Given the description of an element on the screen output the (x, y) to click on. 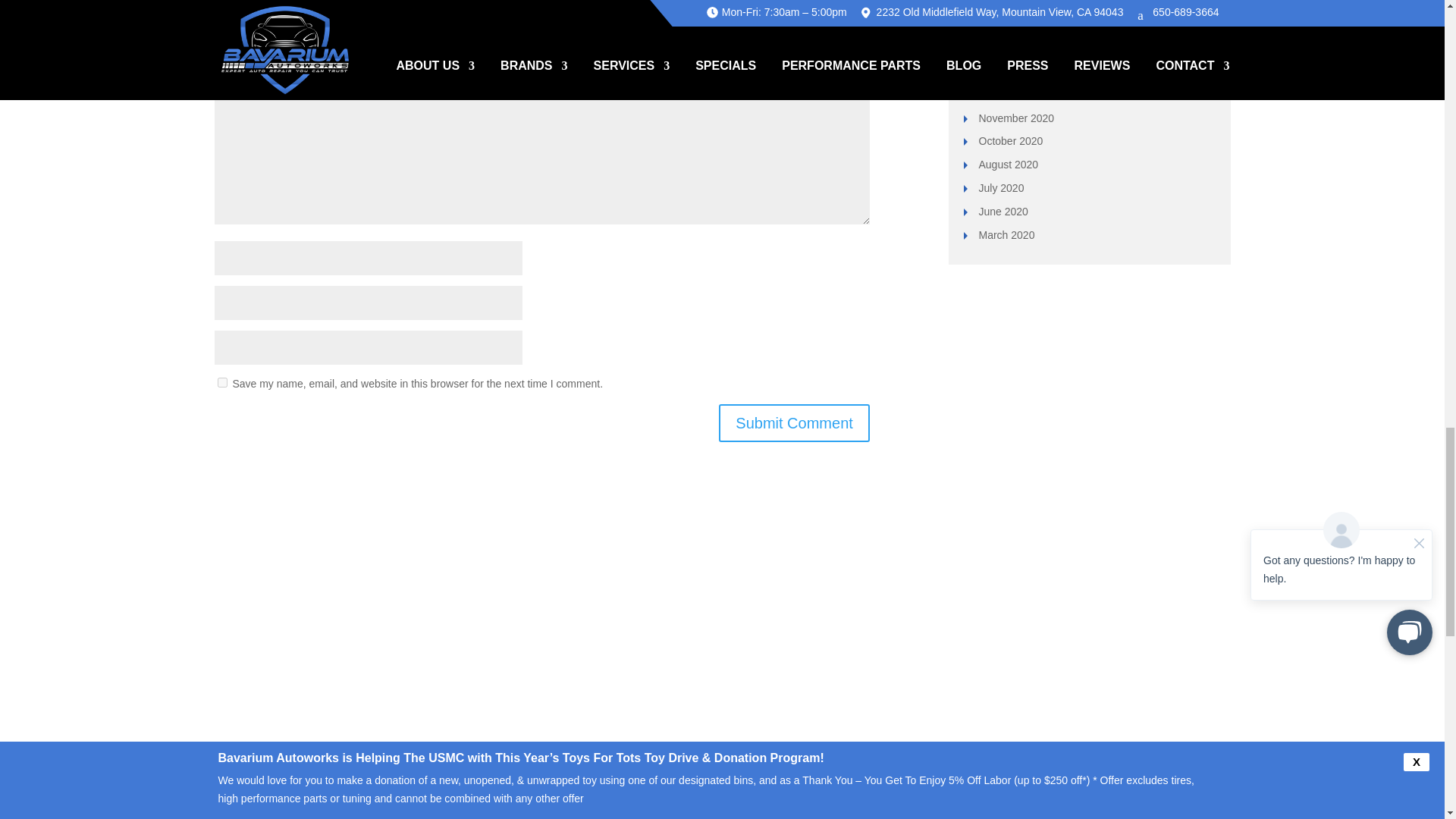
Submit Comment (794, 423)
yes (221, 382)
